Given the description of an element on the screen output the (x, y) to click on. 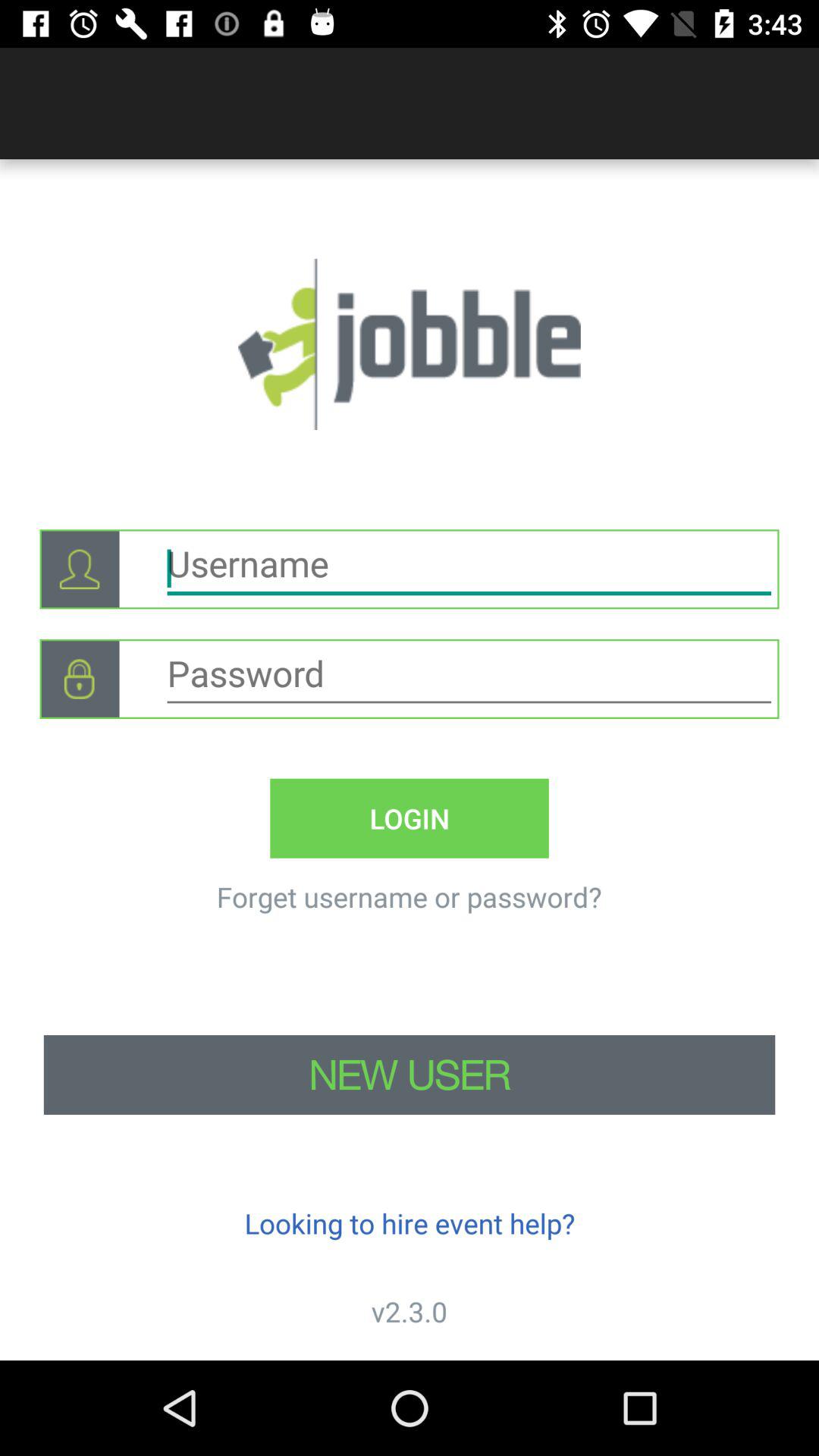
swipe to forget username or icon (408, 896)
